Given the description of an element on the screen output the (x, y) to click on. 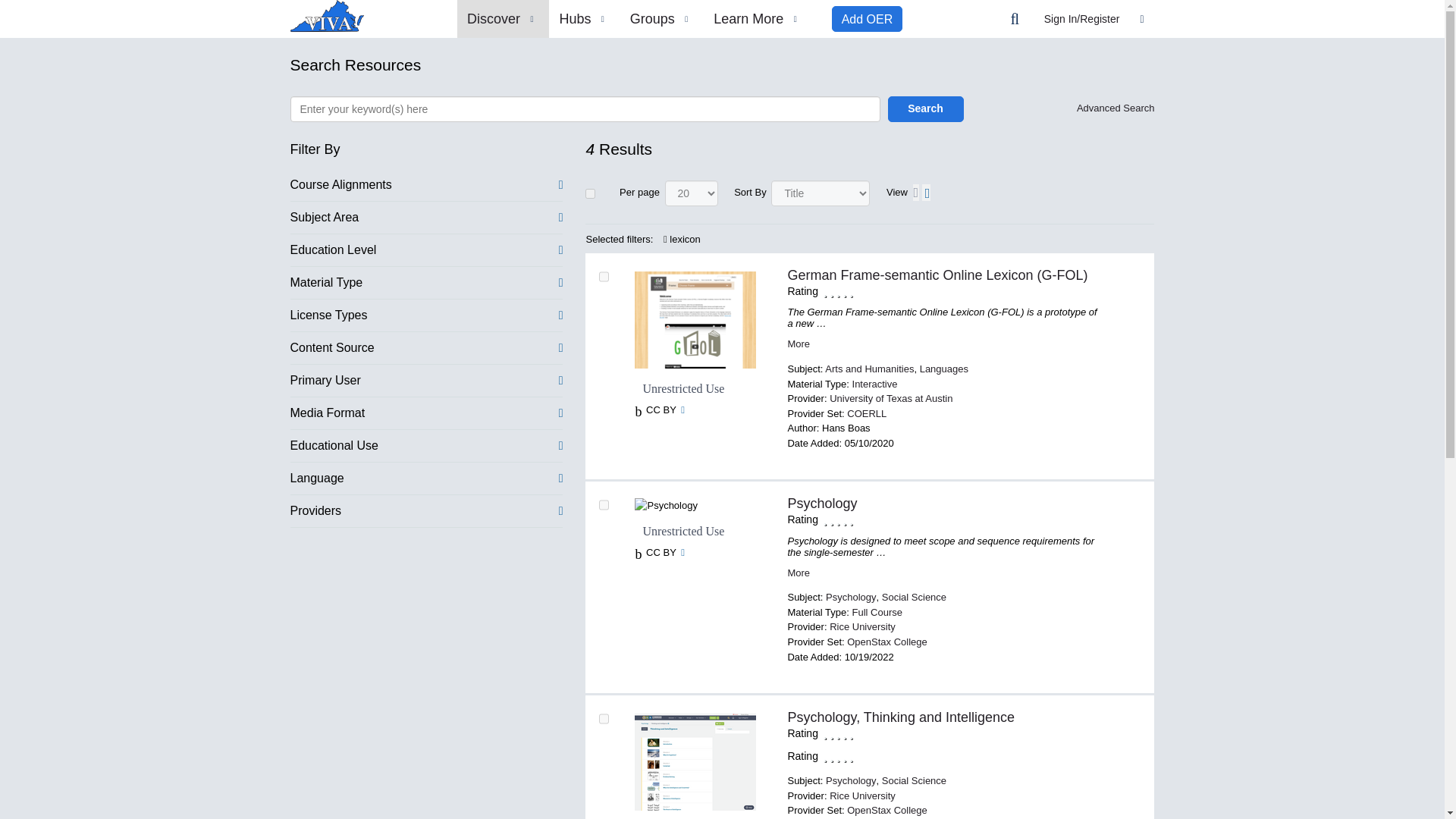
Learn More (757, 18)
Groups (661, 18)
on (590, 193)
Hubs (584, 18)
Show add OER options (866, 18)
Discover (502, 18)
Search keywords (584, 109)
Add OER (866, 18)
